Given the description of an element on the screen output the (x, y) to click on. 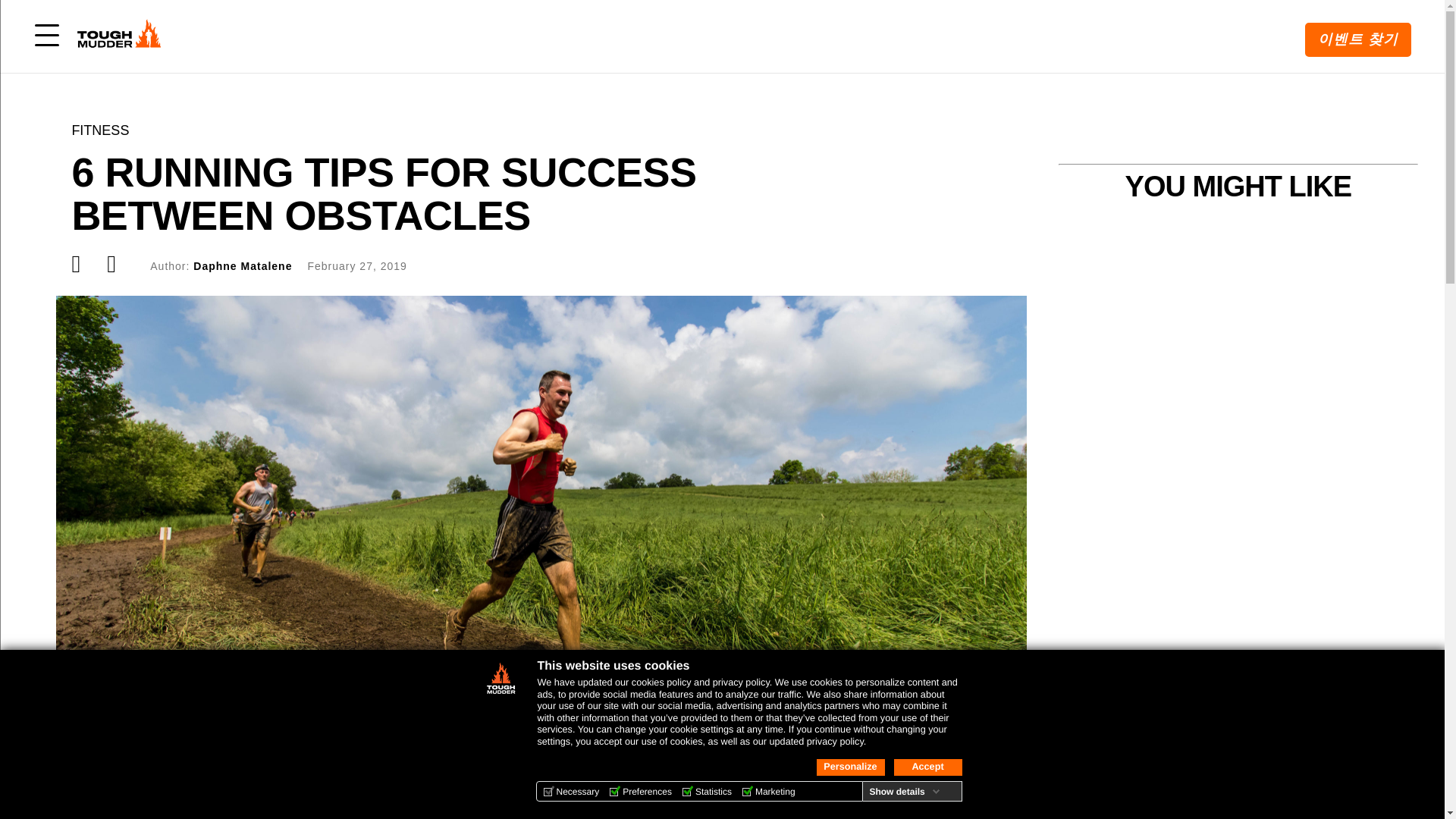
Show details (904, 791)
Personalize (849, 767)
Accept (926, 767)
